Given the description of an element on the screen output the (x, y) to click on. 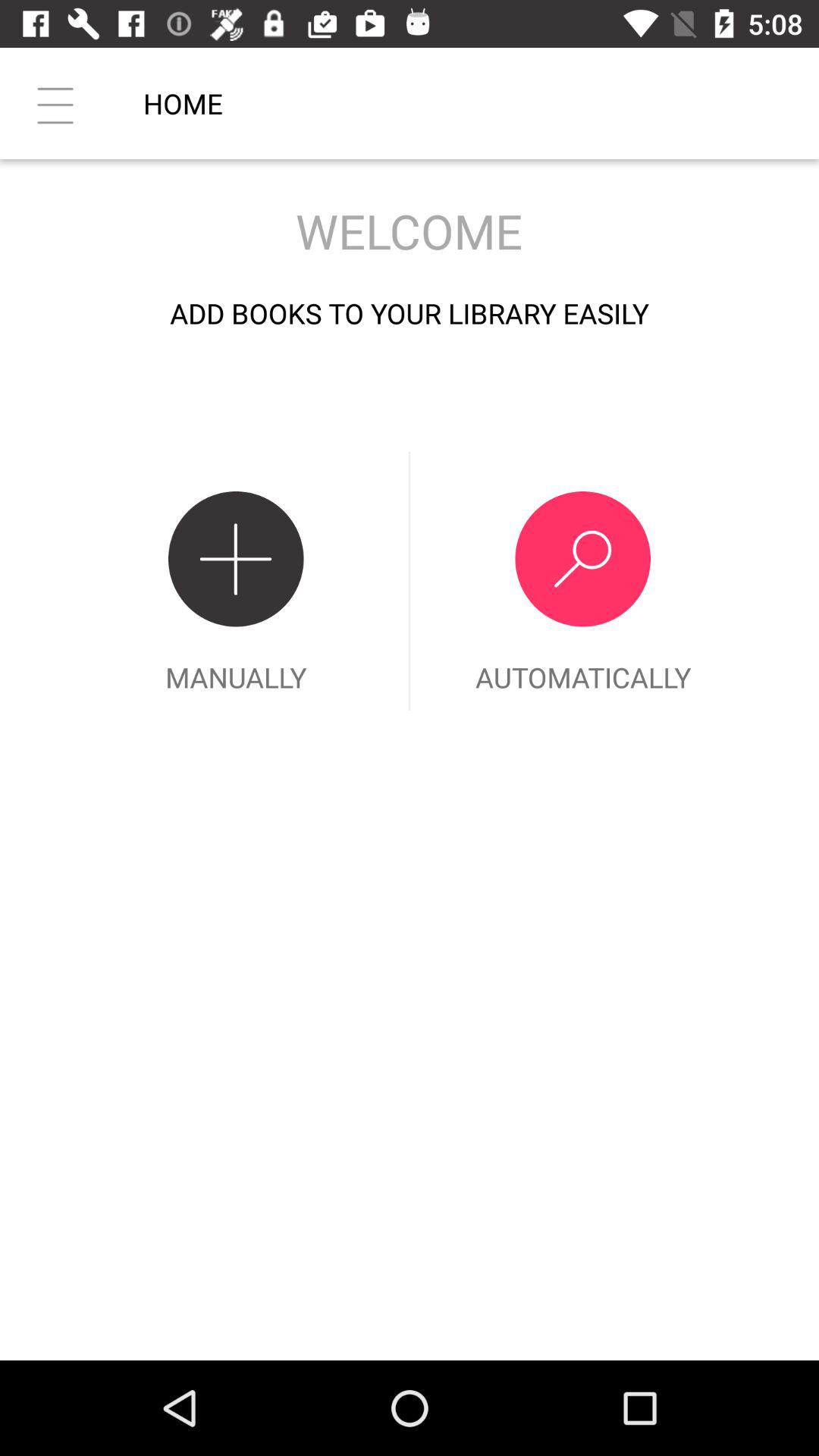
press the icon above manually (55, 103)
